Given the description of an element on the screen output the (x, y) to click on. 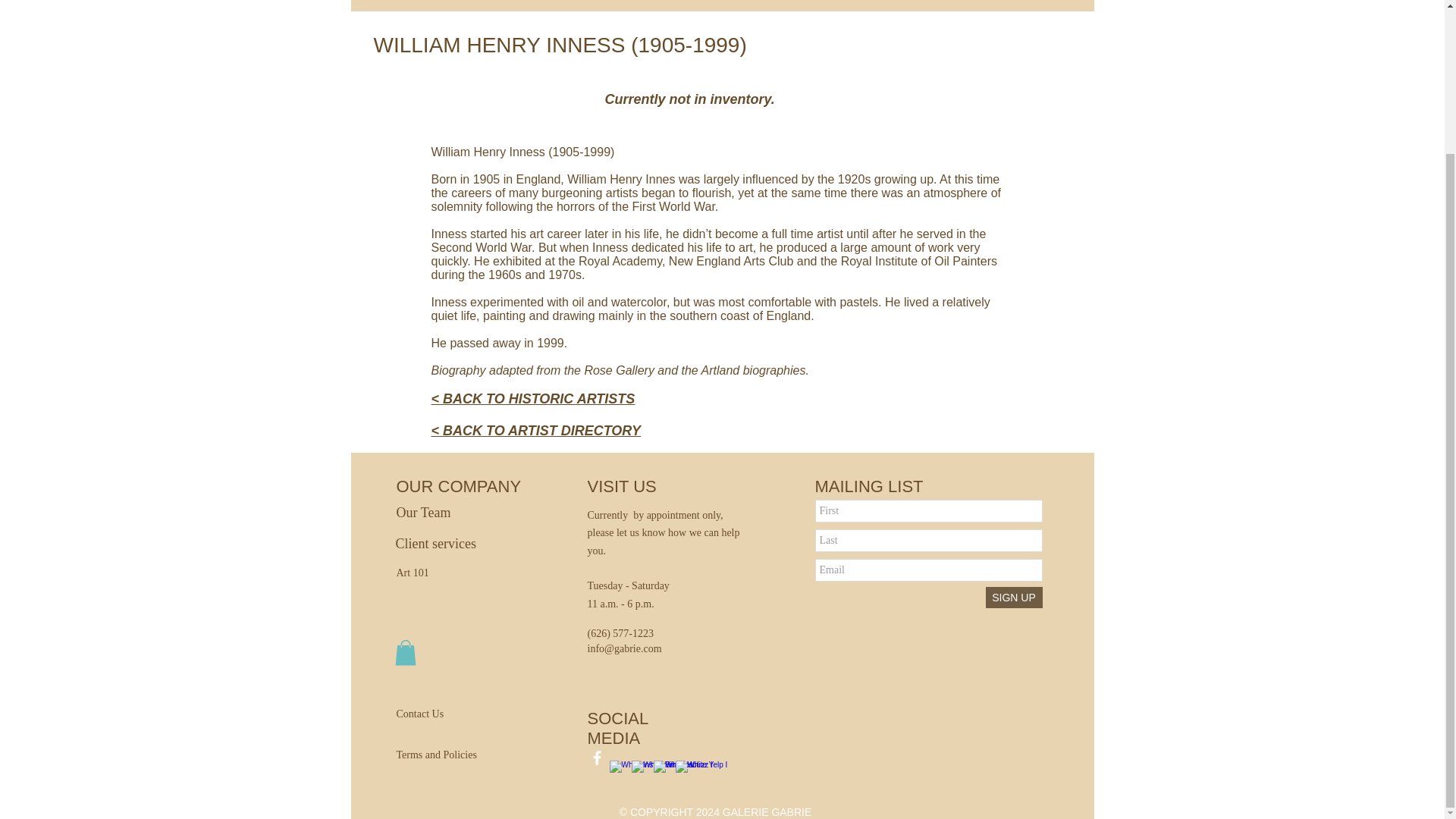
Terms and Policies (459, 754)
Art 101 (421, 573)
Our Team (445, 513)
SIGN UP (1013, 597)
Contact Us (432, 713)
